Given the description of an element on the screen output the (x, y) to click on. 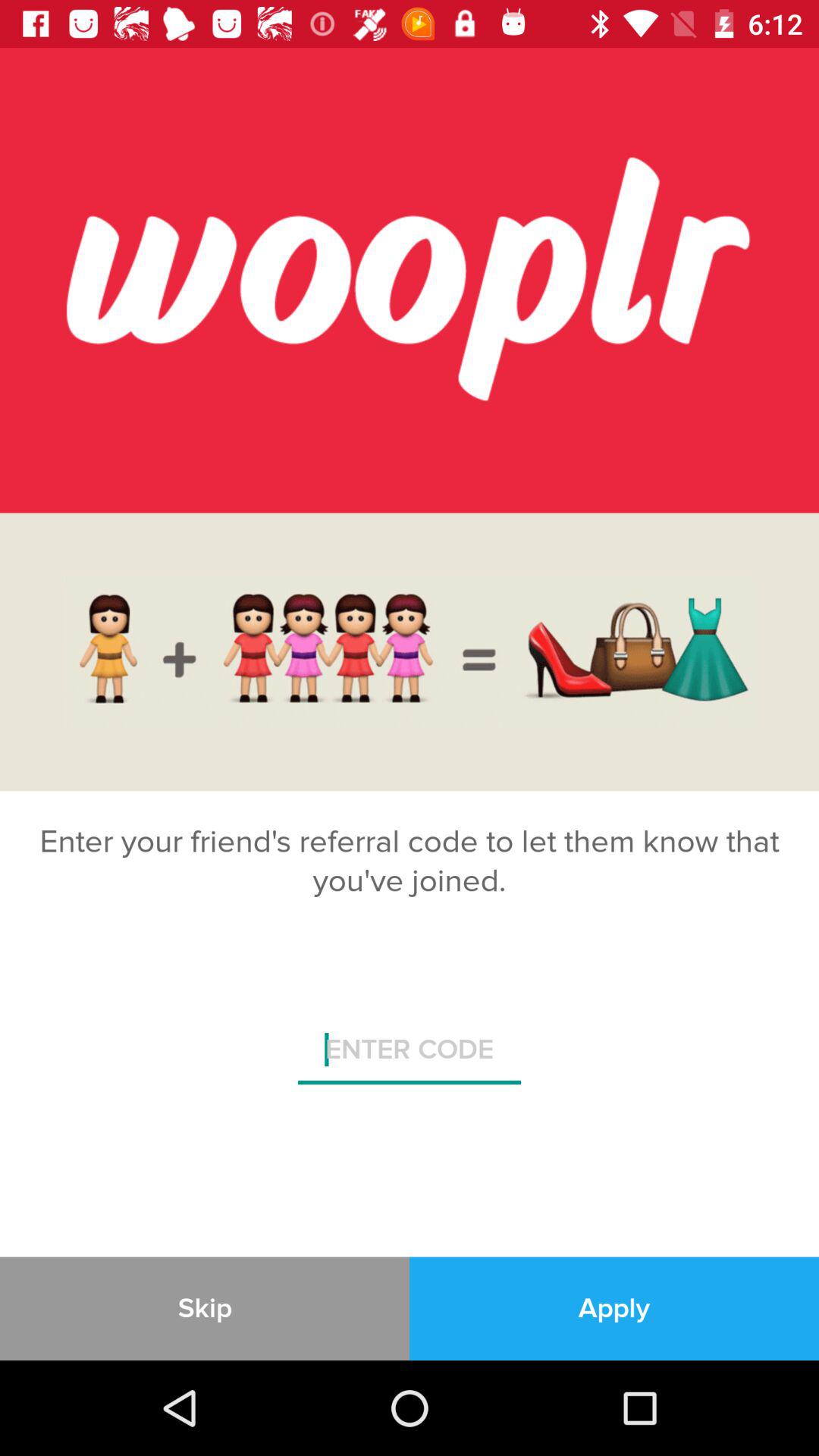
launch the item at the bottom right corner (614, 1308)
